Given the description of an element on the screen output the (x, y) to click on. 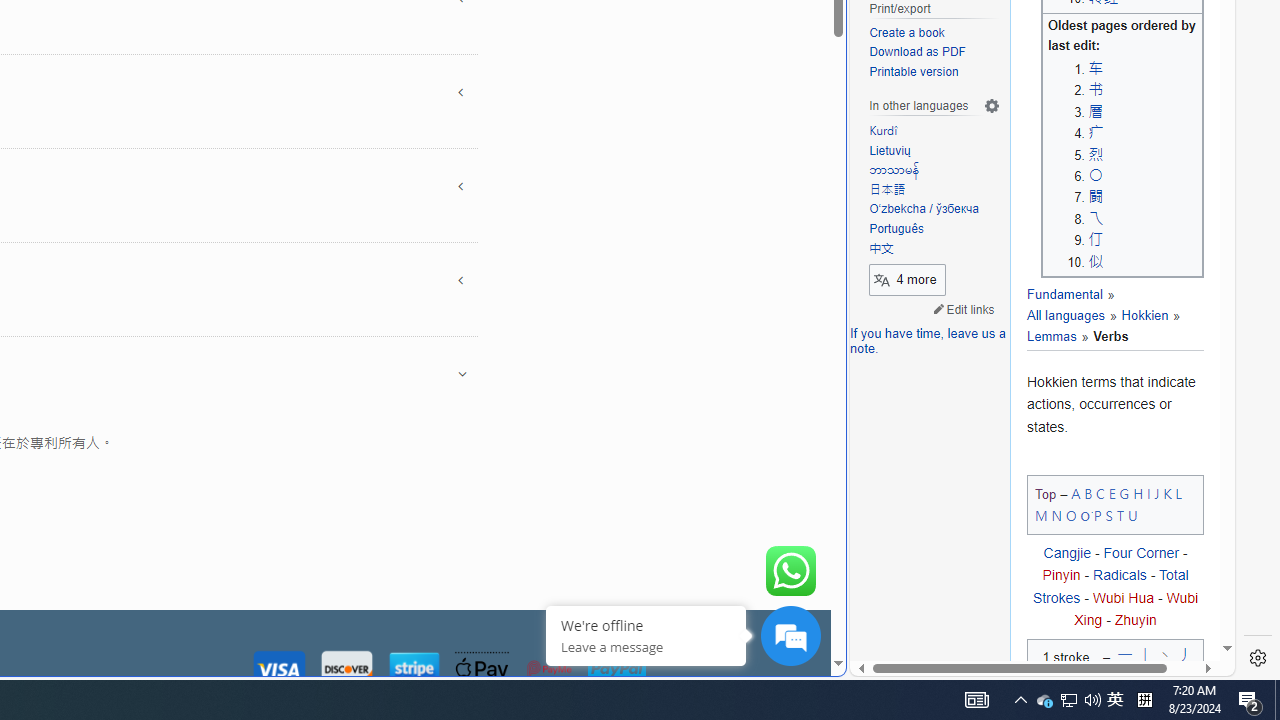
Four Corner (1140, 553)
Edit links (964, 308)
Wubi Xing (1136, 608)
K (1167, 492)
H (1138, 492)
Printable version (934, 71)
